Given the description of an element on the screen output the (x, y) to click on. 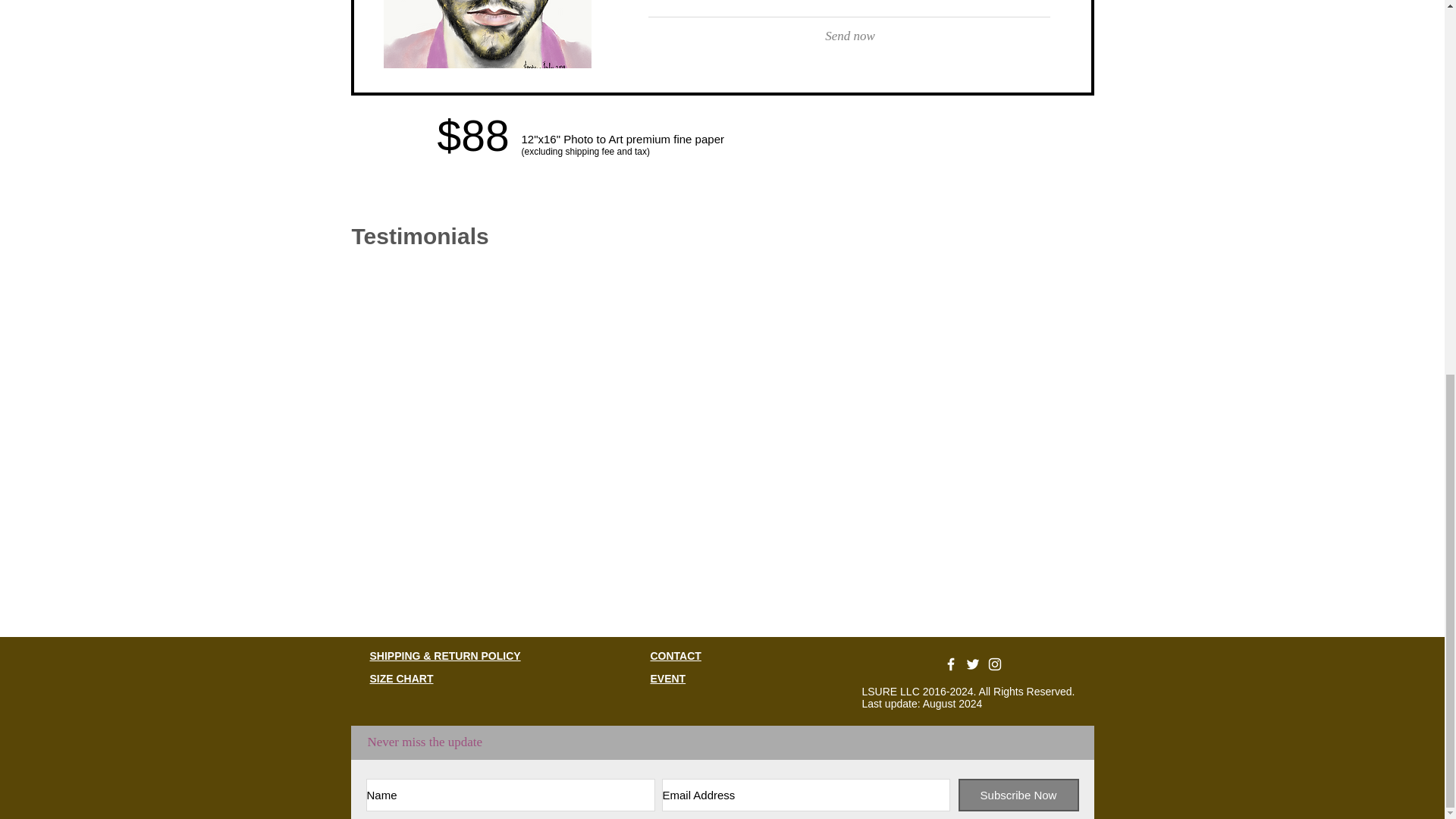
Subscribe Now (1018, 794)
CONTACT (675, 655)
SIZE CHART (401, 678)
EVENT (667, 678)
Send now (850, 36)
